Given the description of an element on the screen output the (x, y) to click on. 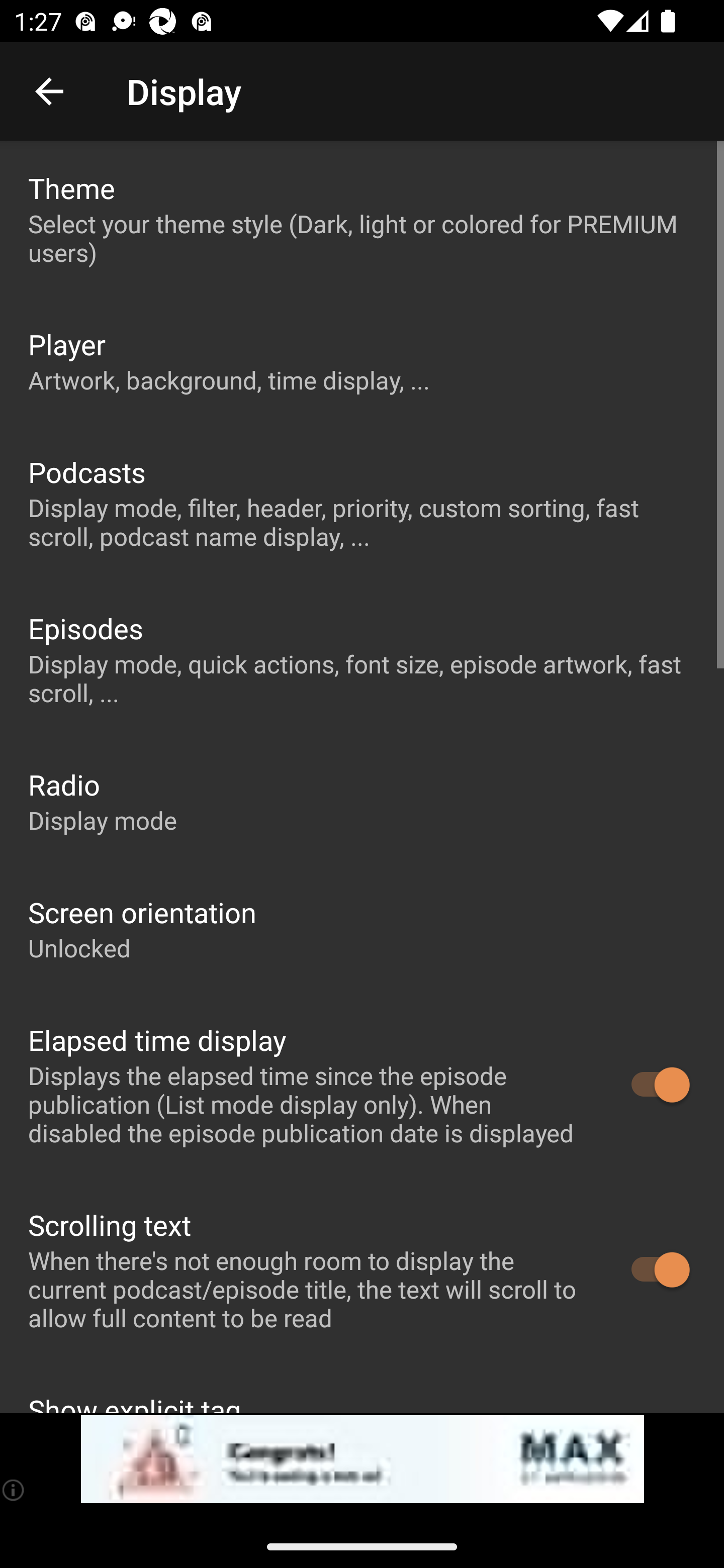
Navigate up (49, 91)
Player Artwork, background, time display, ... (362, 360)
Radio Display mode (362, 800)
Screen orientation Unlocked (362, 928)
app-monetization (362, 1459)
(i) (14, 1489)
